Given the description of an element on the screen output the (x, y) to click on. 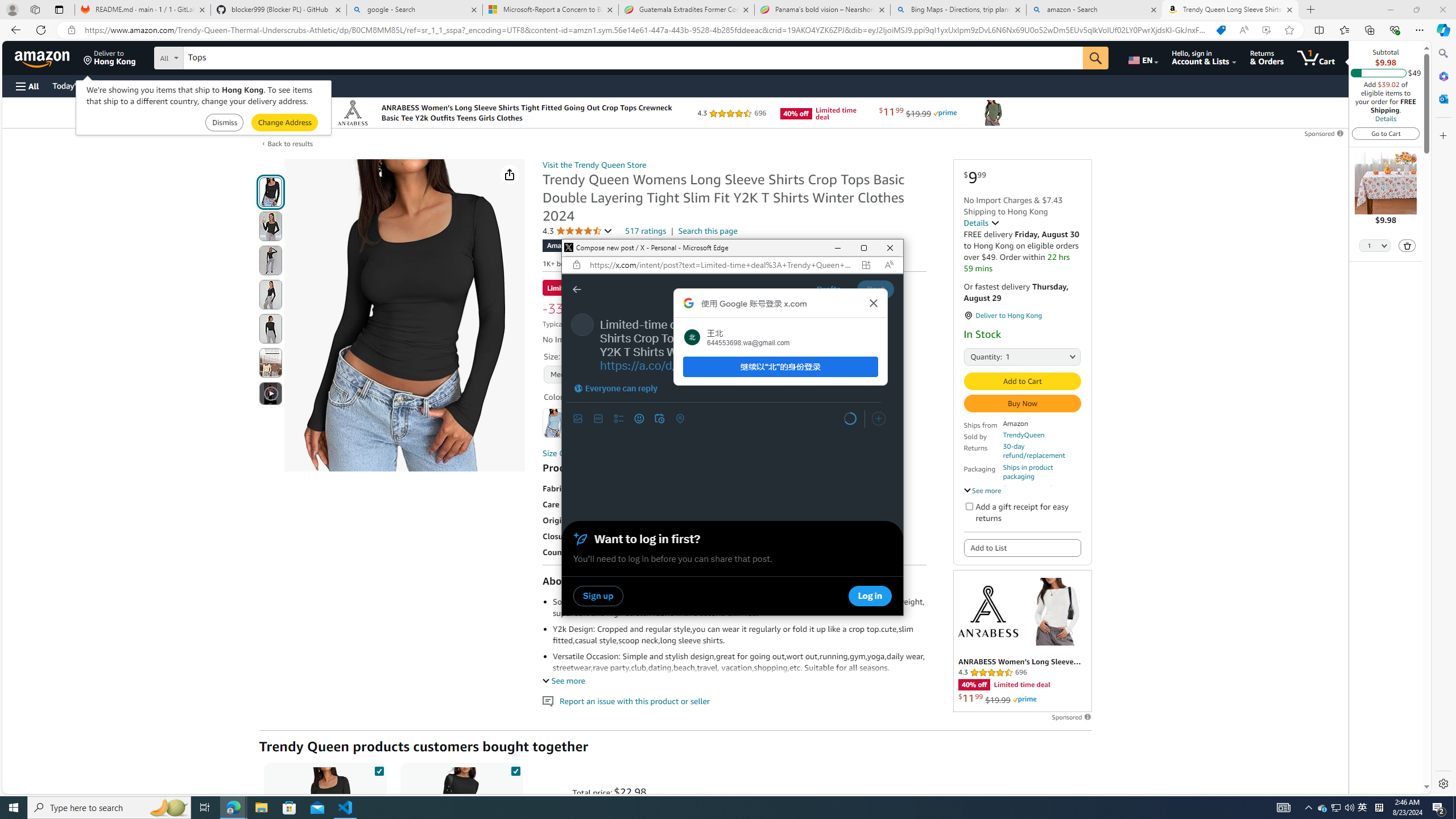
Type here to search (108, 807)
Add poll (618, 418)
Start (13, 807)
Customer Service (145, 85)
Skip to main content (48, 56)
Choose a language for shopping. (1142, 57)
